Given the description of an element on the screen output the (x, y) to click on. 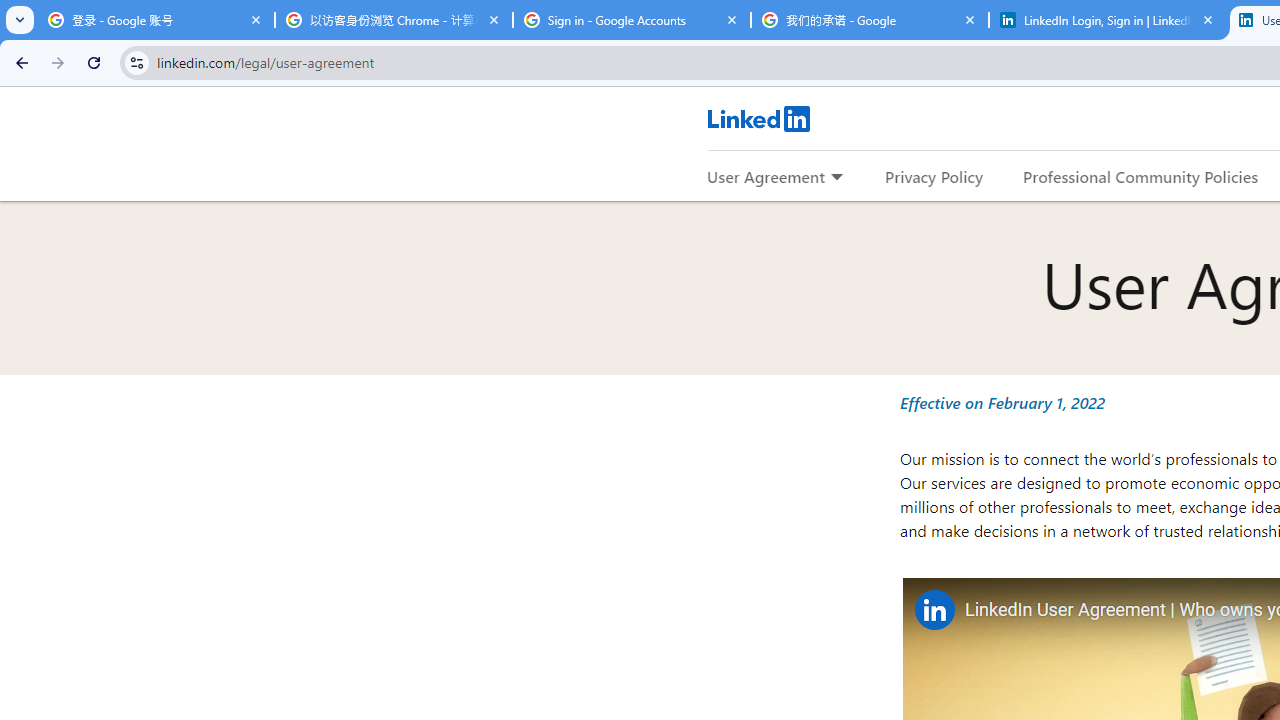
Expand to show more links for User Agreement (836, 178)
Photo image of LinkedIn (933, 609)
LinkedIn Logo (758, 118)
